Given the description of an element on the screen output the (x, y) to click on. 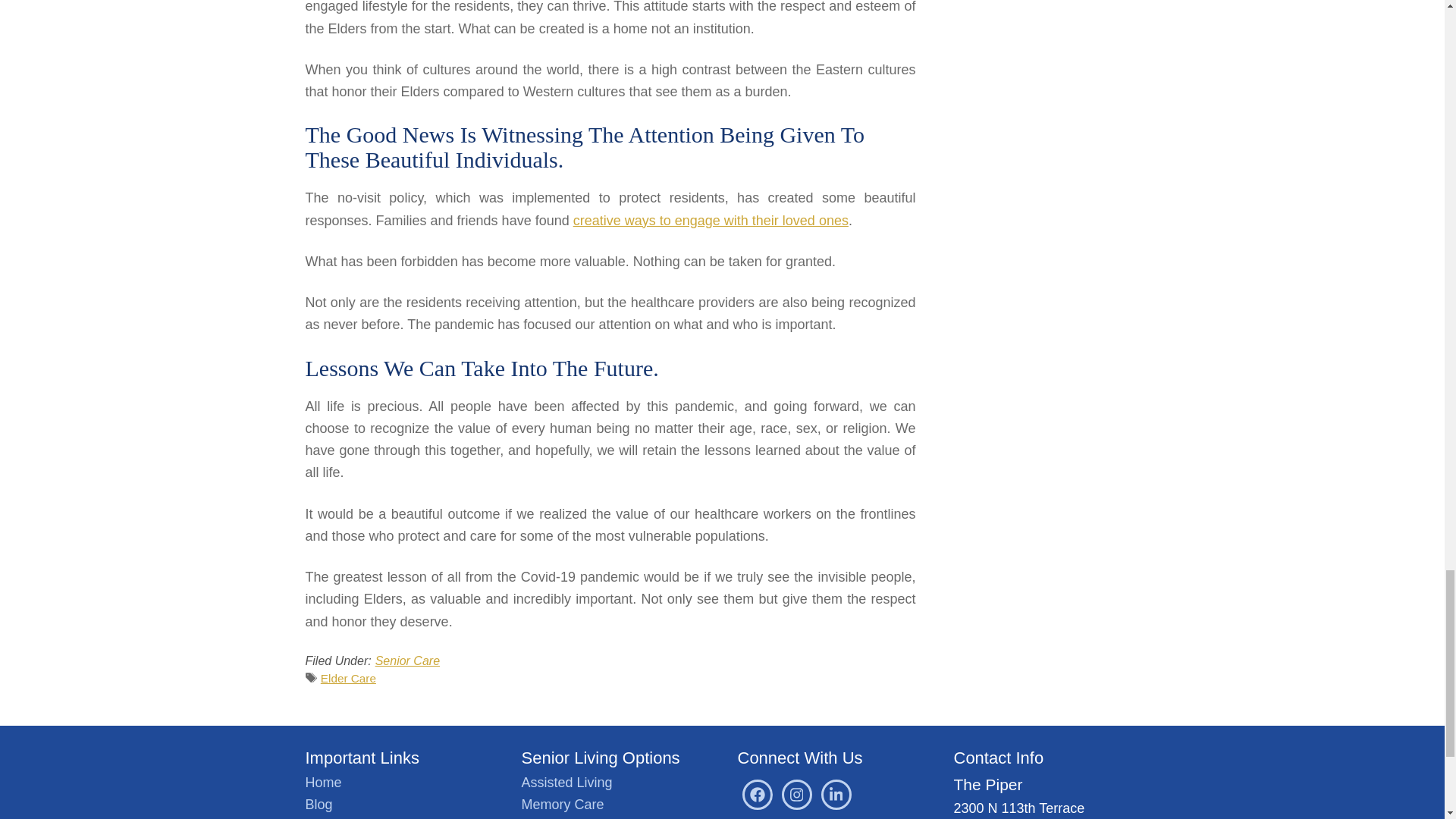
Elder Care (347, 677)
creative ways to engage with their loved ones (710, 220)
Home (322, 782)
Senior Care (407, 660)
Facebook (756, 794)
Linkedin (835, 794)
Instagram (795, 794)
Blog (317, 804)
